Given the description of an element on the screen output the (x, y) to click on. 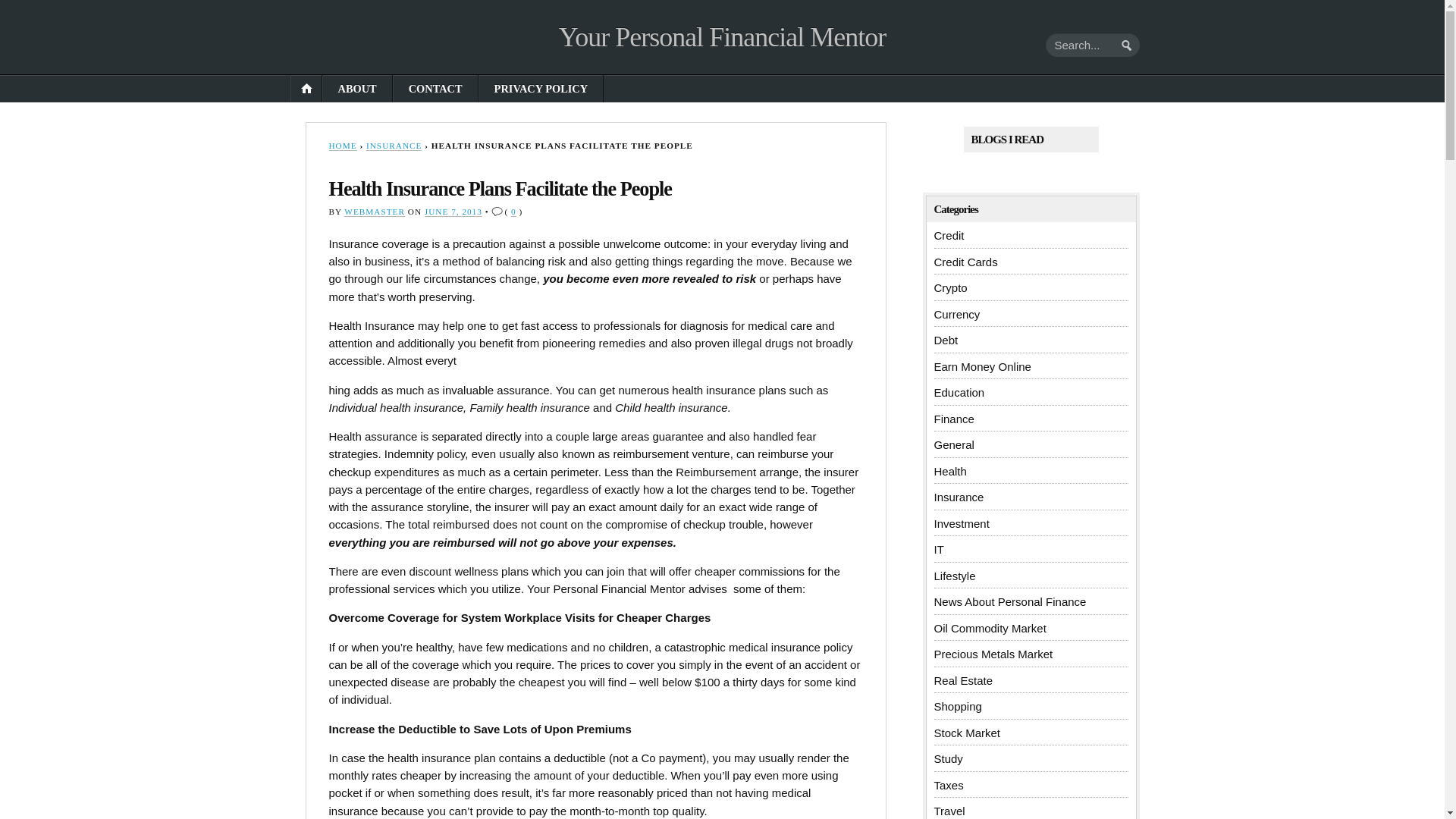
Credit Cards (965, 261)
Credit (948, 235)
View all posts by Webmaster (373, 212)
Shopping (957, 706)
Earn Money Online (982, 366)
Precious Metals Market (993, 653)
HOME (306, 88)
ABOUT (357, 88)
HOME (342, 145)
News About Personal Finance (1010, 601)
Investment (962, 522)
General (954, 444)
Home (722, 37)
Real Estate (963, 680)
JUNE 7, 2013 (453, 212)
